Given the description of an element on the screen output the (x, y) to click on. 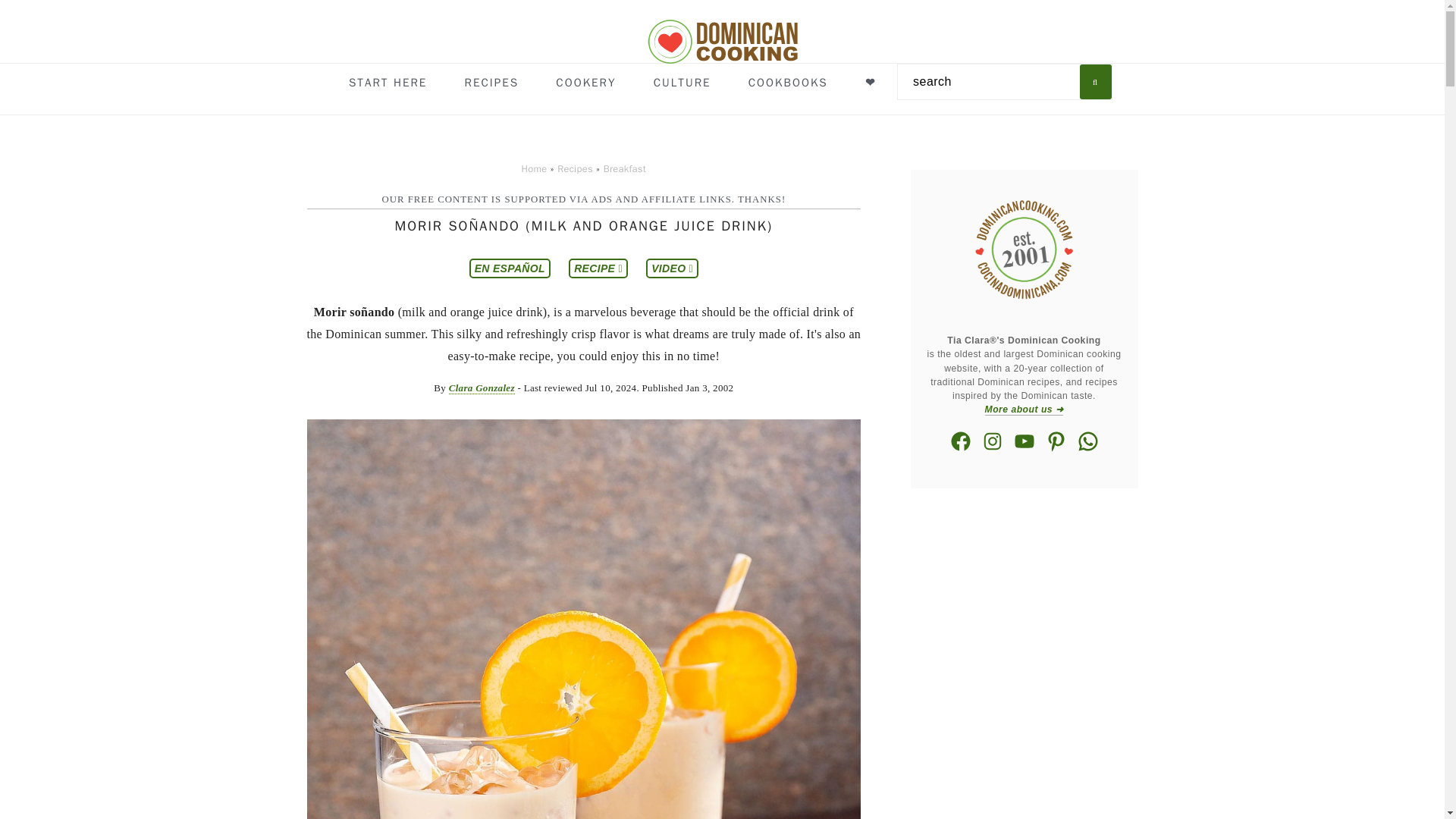
COOKBOOKS (787, 83)
Breakfast (625, 168)
Start here (387, 83)
START HERE (387, 83)
COOKERY (585, 83)
Culture and cooking (585, 83)
Clara Gonzalez (481, 387)
Recipes (574, 168)
Home (534, 168)
